Given the description of an element on the screen output the (x, y) to click on. 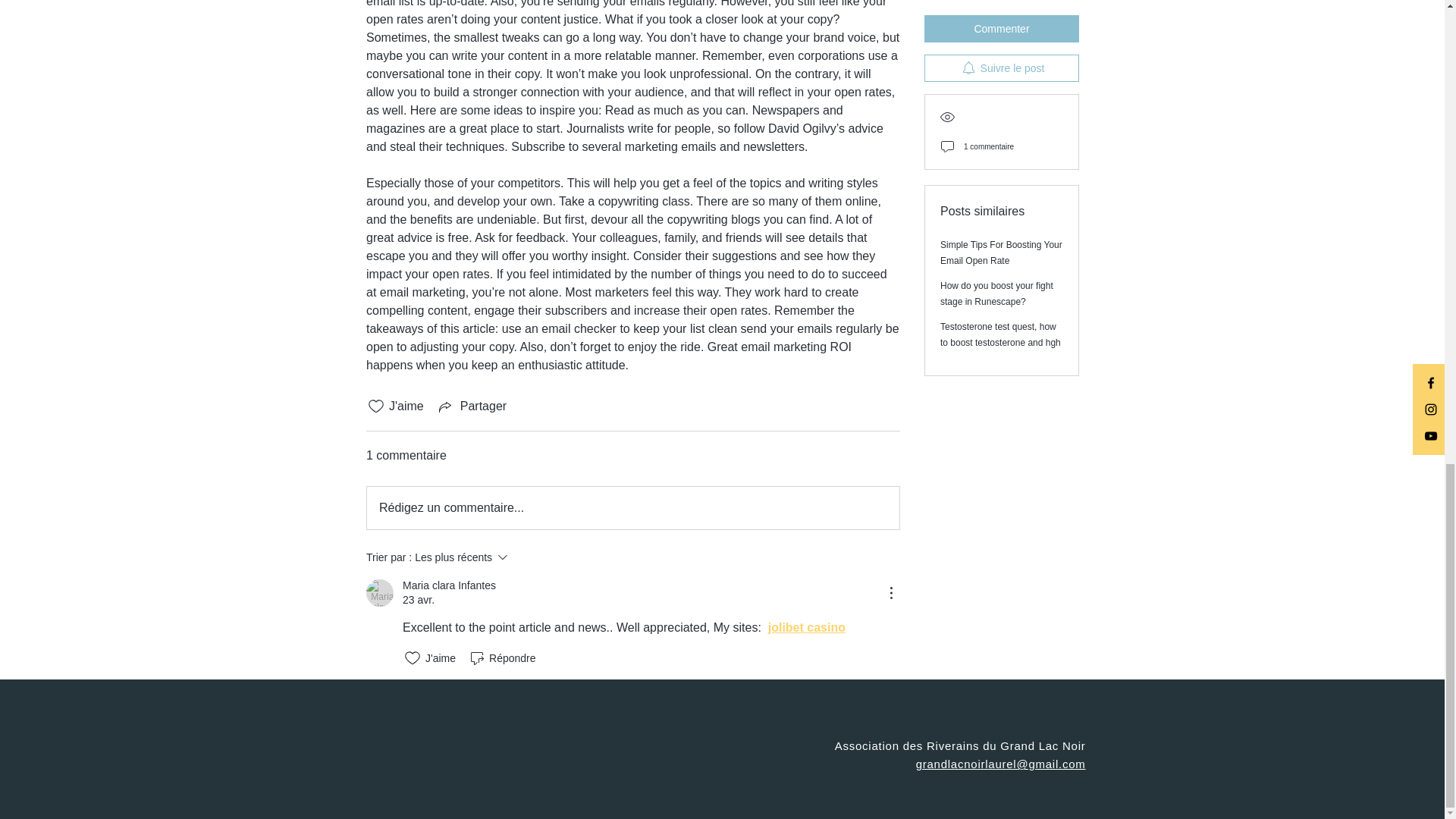
Maria clara Infantes (379, 592)
Partager (470, 406)
Maria clara Infantes (449, 585)
